Given the description of an element on the screen output the (x, y) to click on. 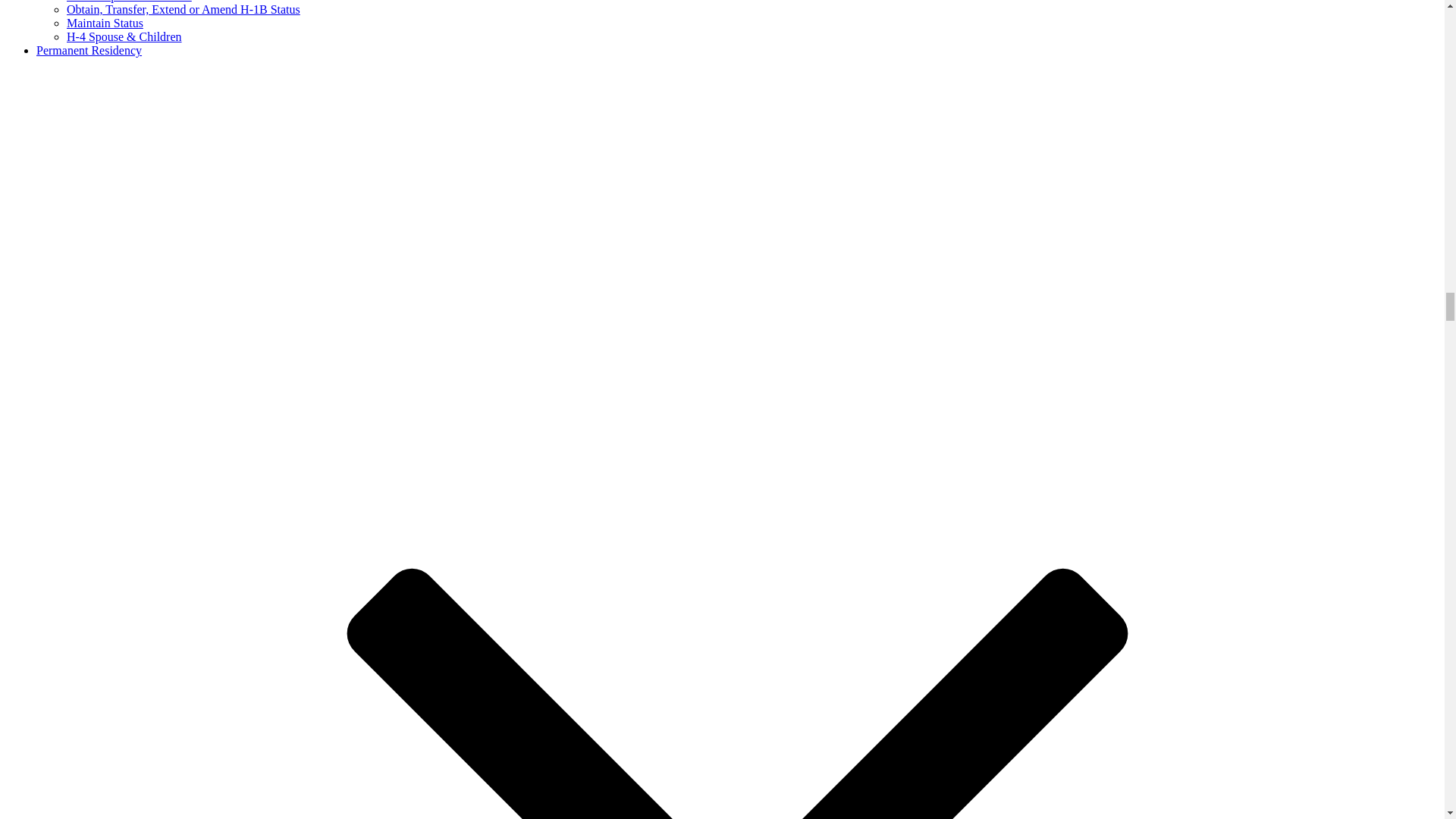
Obtain, Transfer, Extend or Amend H-1B Status (182, 9)
H-1B Department Toolkit (129, 1)
Maintain Status (104, 22)
